Given the description of an element on the screen output the (x, y) to click on. 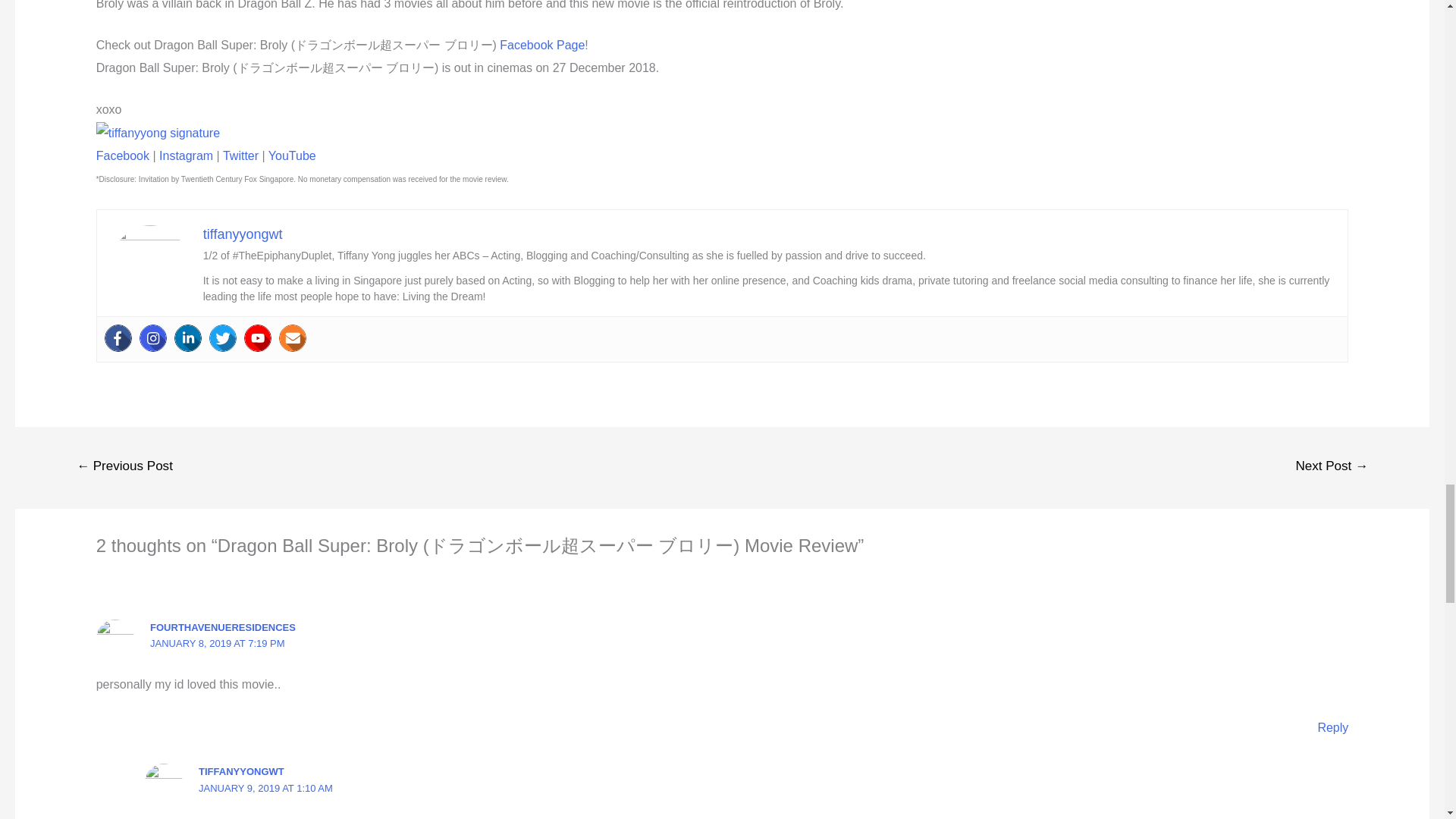
Facebook (118, 338)
Facebook (122, 155)
Facebook Page (542, 44)
YouTube (291, 155)
FOURTHAVENUERESIDENCES (222, 627)
Twitter (222, 338)
Instagram (185, 155)
Youtube (257, 338)
User email (292, 338)
Instagram (153, 338)
